Given the description of an element on the screen output the (x, y) to click on. 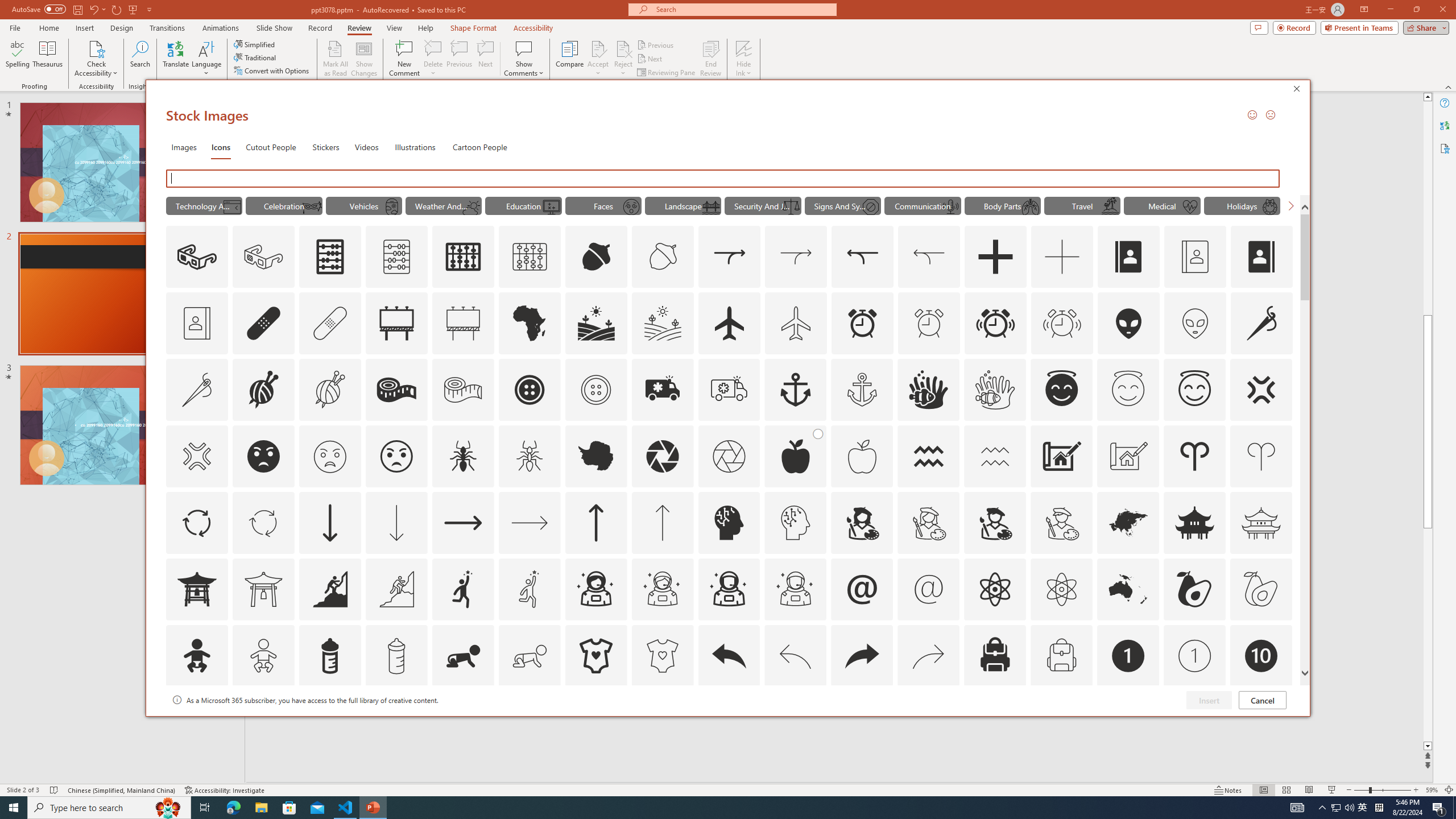
Convert with Options... (272, 69)
AutomationID: Icons_Baby_M (263, 655)
AutomationID: Icons_AlarmRinging_M (1062, 323)
Accept Change (598, 48)
End Review (710, 58)
AutomationID: Icons_BabyBottle_M (395, 655)
